Given the description of an element on the screen output the (x, y) to click on. 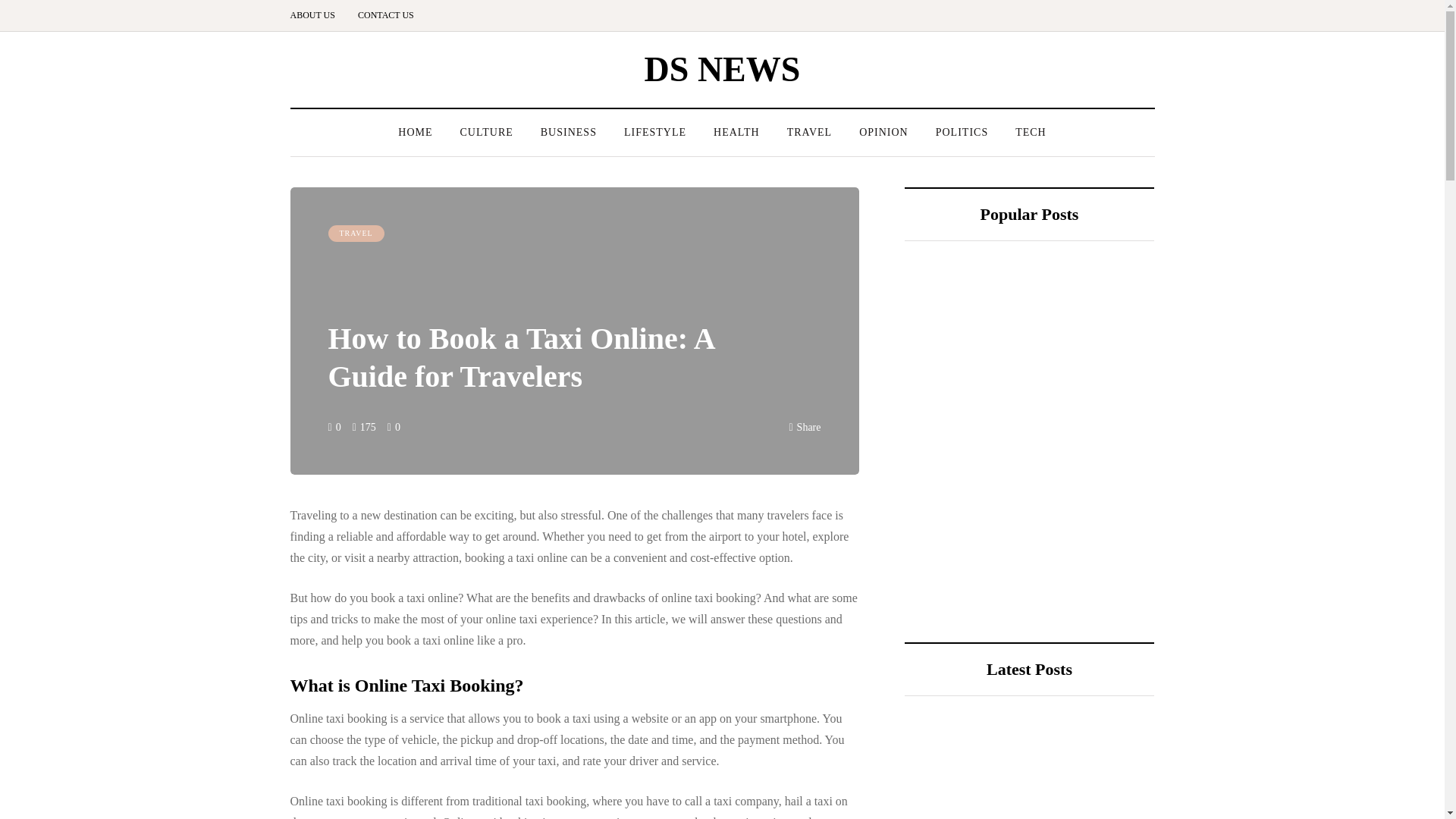
TRAVEL (809, 132)
POLITICS (961, 132)
BUSINESS (568, 132)
TRAVEL (355, 233)
LIFESTYLE (655, 132)
HOME (414, 132)
DS NEWS (722, 68)
CONTACT US (385, 15)
OPINION (883, 132)
ABOUT US (317, 15)
TECH (1030, 132)
HEALTH (736, 132)
CULTURE (485, 132)
